Given the description of an element on the screen output the (x, y) to click on. 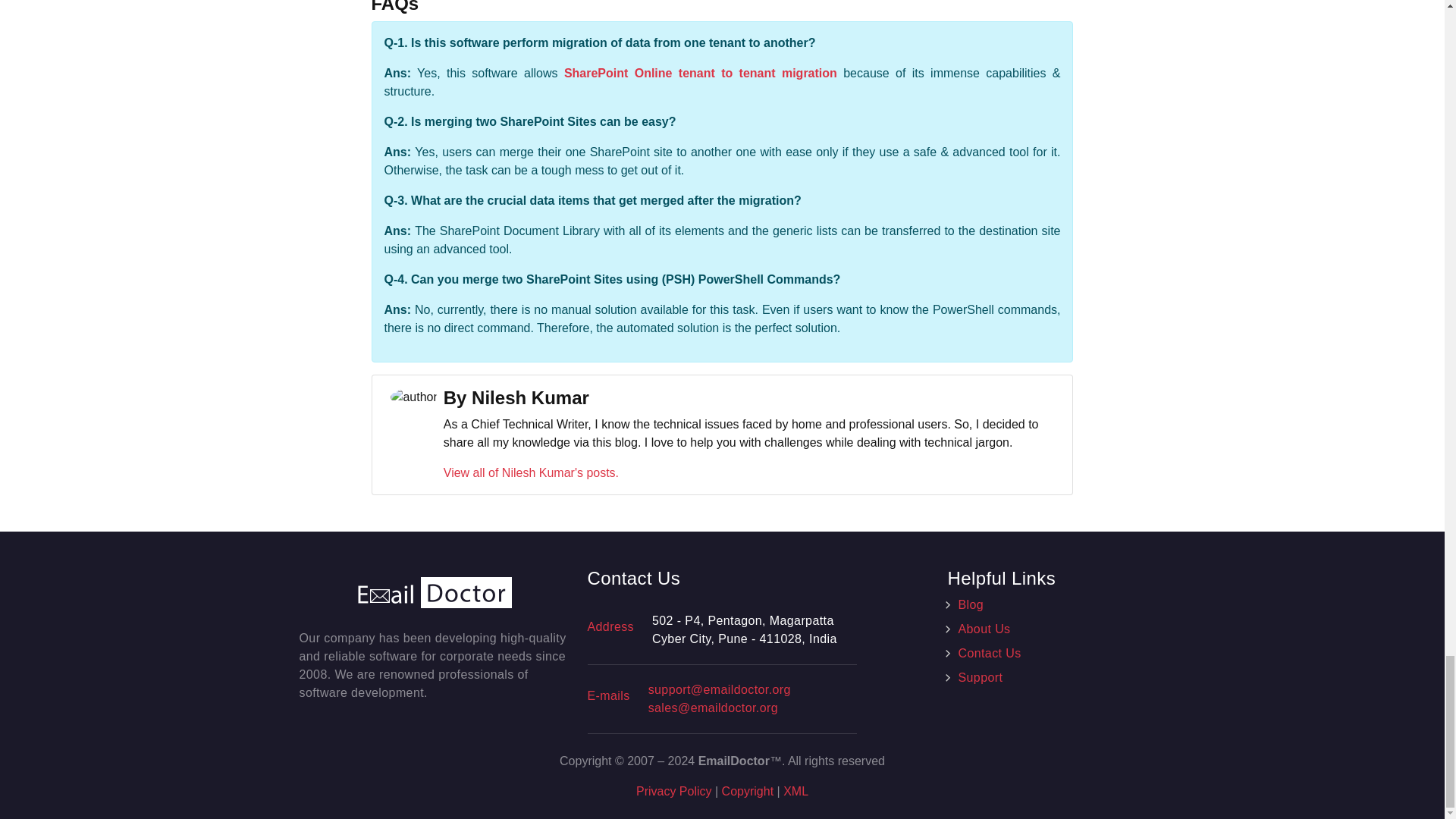
Copyright (747, 790)
Blog (971, 604)
SharePoint Online tenant to tenant migration (700, 72)
View all of Nilesh Kumar's posts. (531, 472)
Privacy Policy (673, 790)
Contact Us (989, 653)
XML (795, 790)
Support (980, 676)
About Us (984, 628)
